Given the description of an element on the screen output the (x, y) to click on. 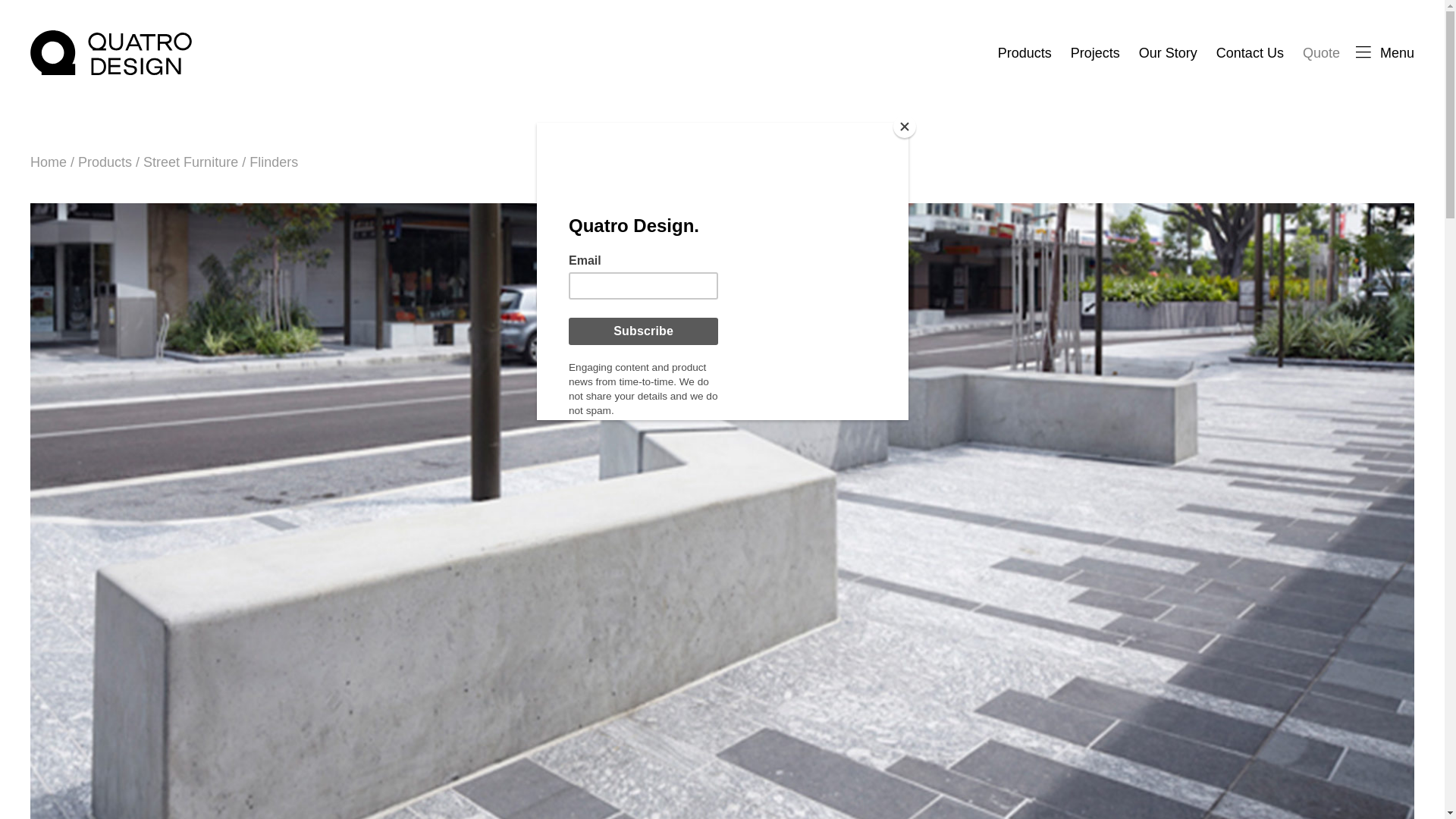
Products (105, 161)
Contact Us (1249, 52)
Quote (1321, 52)
Home (48, 161)
Street Furniture (190, 161)
Our Story (1167, 52)
Go to Products. (105, 161)
Go to Quatro Design. (48, 161)
Products (1024, 52)
Menu (1384, 52)
Projects (1094, 52)
Go to Street Furniture. (190, 161)
